Given the description of an element on the screen output the (x, y) to click on. 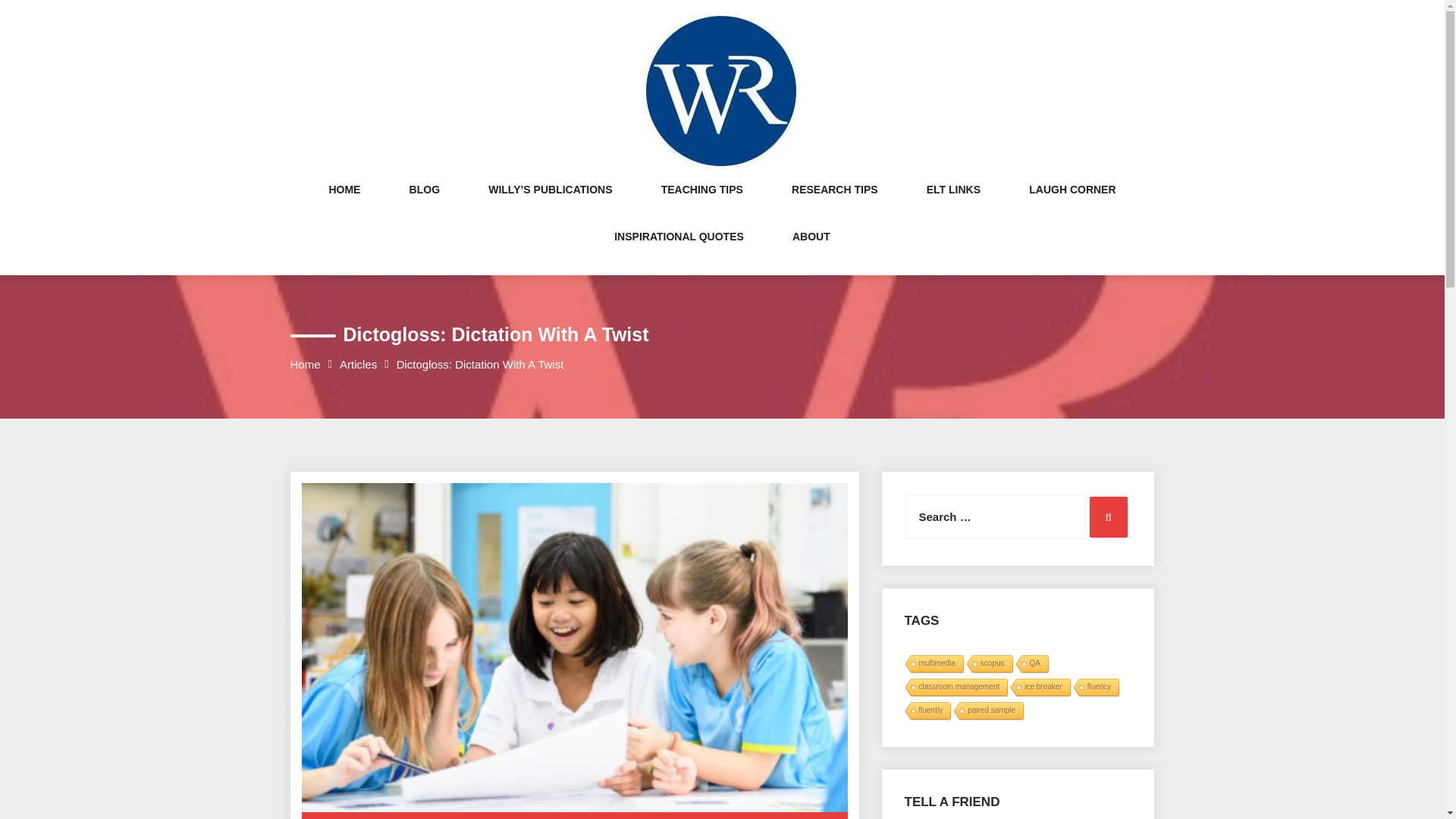
classroom management (954, 687)
TEACHING TIPS (701, 205)
scopus (987, 664)
ELT LINKS (952, 205)
fluency (1095, 687)
ice breaker (1038, 687)
paired sample (987, 711)
QA (1030, 664)
Home (304, 364)
INSPIRATIONAL QUOTES (679, 252)
LAUGH CORNER (1072, 205)
Articles (358, 364)
Search (1107, 516)
multimedia (932, 664)
fluently (926, 711)
